Given the description of an element on the screen output the (x, y) to click on. 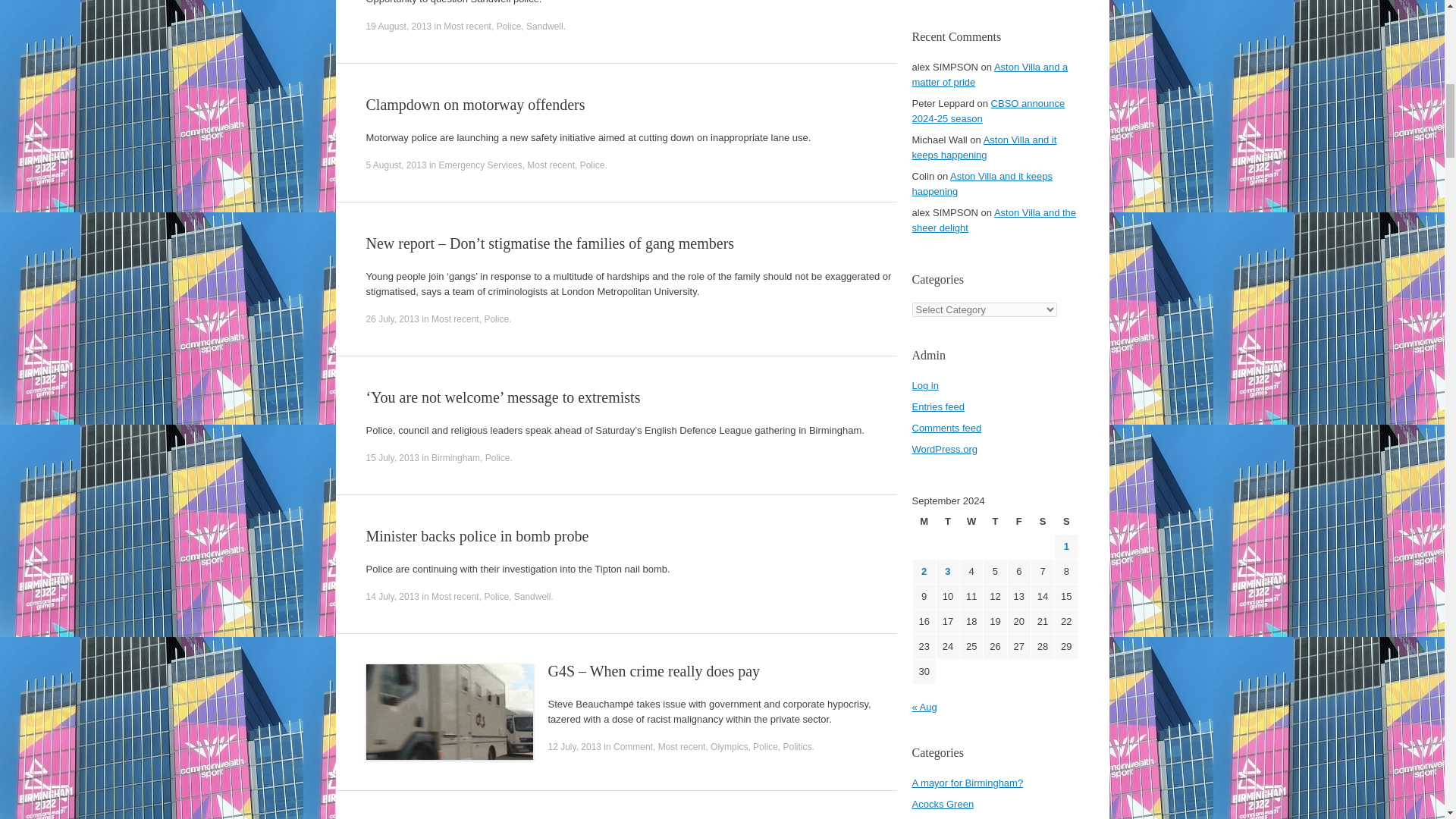
Sandwell (532, 596)
Most recent (551, 164)
Thursday (995, 521)
Most recent (468, 26)
Sandwell (544, 26)
19 August, 2013 (397, 26)
Sunday (1065, 521)
12 July, 2013 (574, 747)
Emergency Services (480, 164)
Saturday (1042, 521)
